Given the description of an element on the screen output the (x, y) to click on. 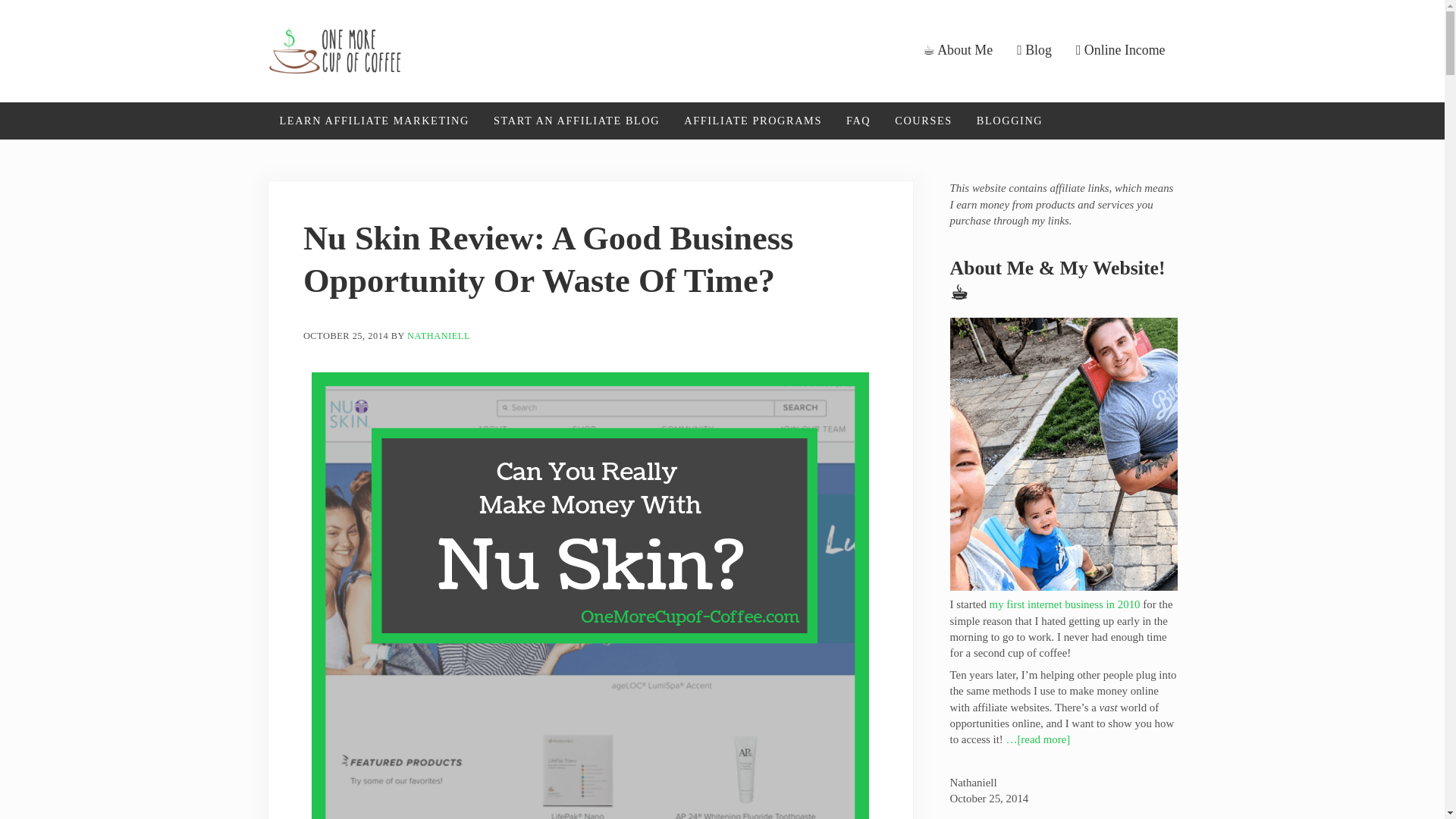
One More Cup of Coffee Logo NEW (334, 50)
NATHANIELL (438, 336)
BLOGGING (1008, 120)
AFFILIATE PROGRAMS (752, 120)
START AN AFFILIATE BLOG (576, 120)
LEARN AFFILIATE MARKETING (373, 120)
COURSES (922, 120)
FAQ (858, 120)
